Given the description of an element on the screen output the (x, y) to click on. 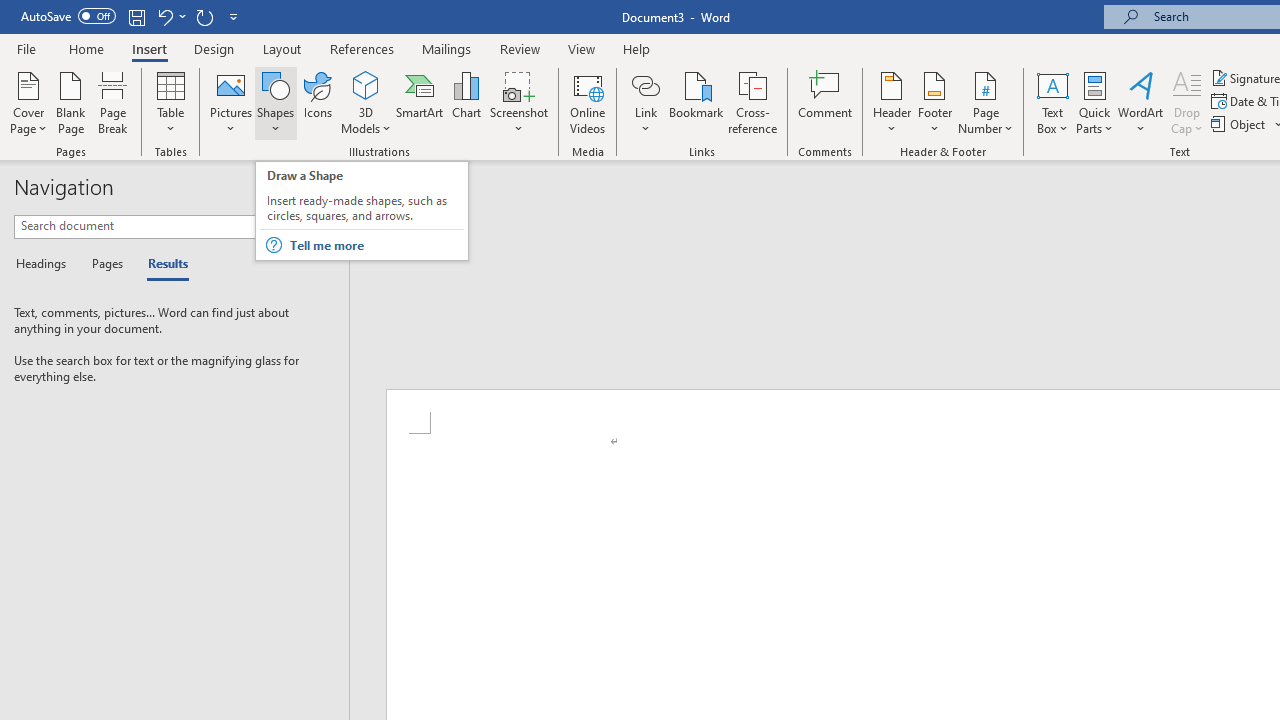
3D Models (366, 84)
Blank Page (70, 102)
Drop Cap (1187, 102)
SmartArt... (419, 102)
Text Box (1052, 102)
Chart... (466, 102)
Object... (1240, 124)
Undo New Page (170, 15)
Cover Page (28, 102)
Table (170, 102)
Comment (825, 102)
